Given the description of an element on the screen output the (x, y) to click on. 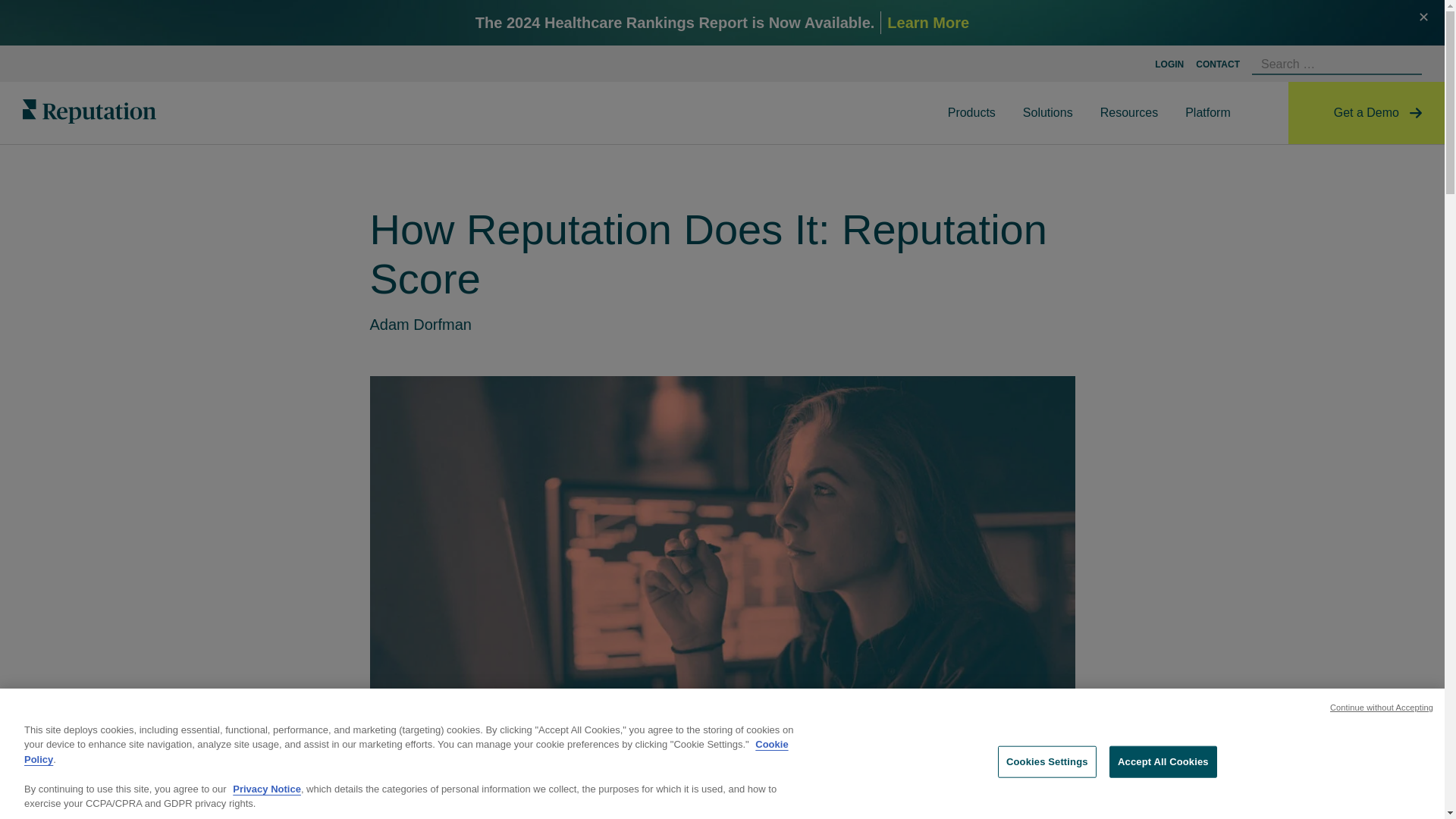
Reputation (89, 110)
Products (971, 112)
Resources (1129, 112)
CONTACT (1217, 63)
Solutions (1047, 112)
LOGIN (1168, 63)
